Given the description of an element on the screen output the (x, y) to click on. 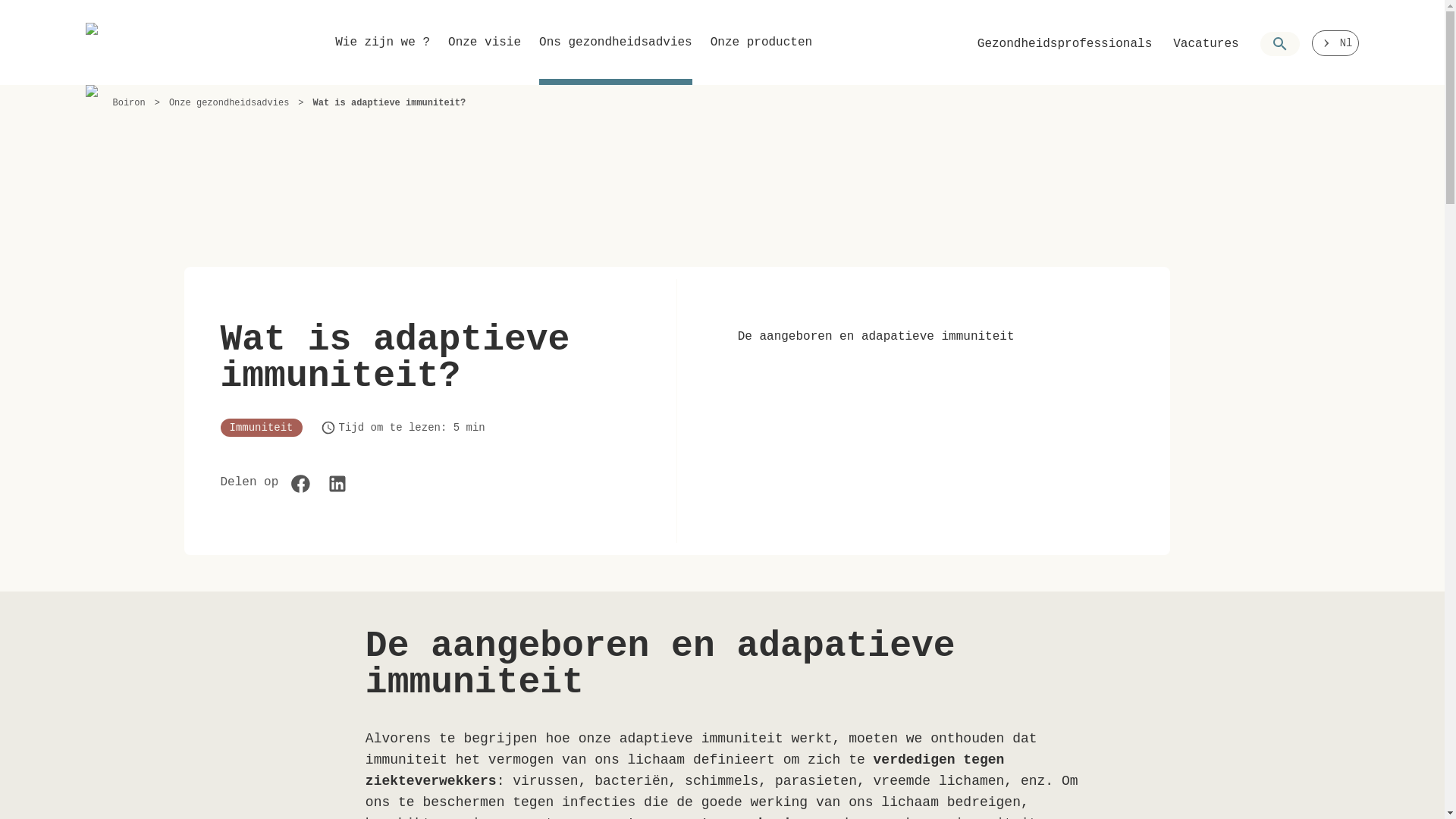
Delen op Facebook Element type: hover (300, 483)
Onze visie Element type: text (484, 55)
Gezondheidsprofessionals Element type: text (1064, 43)
Wie zijn we ? Element type: text (382, 55)
Delen op LinkedIn Element type: hover (337, 483)
Onze gezondheidsadvies Element type: text (228, 102)
Boiron Element type: text (128, 102)
Immuniteit Element type: text (260, 427)
Nl Element type: text (1335, 43)
Zoeken Element type: hover (1279, 43)
Onze producten Element type: text (761, 55)
Ons gezondheidsadvies Element type: text (615, 55)
Boiron Element type: hover (126, 42)
Vacatures Element type: text (1205, 43)
